Given the description of an element on the screen output the (x, y) to click on. 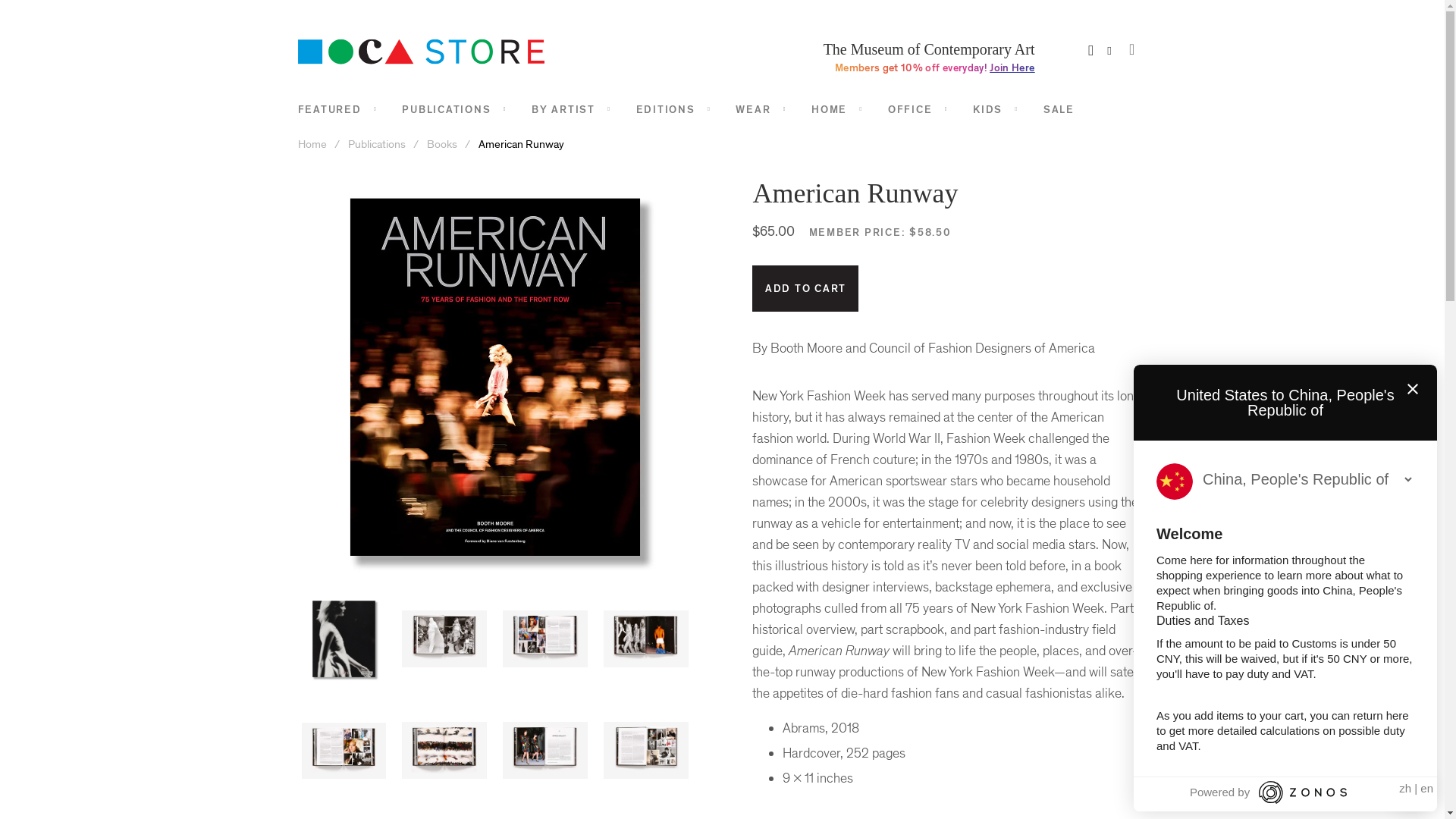
Add to Cart (805, 288)
Open Zonos Hello (1411, 791)
MOCA Store (313, 144)
Select your country (1306, 479)
